Given the description of an element on the screen output the (x, y) to click on. 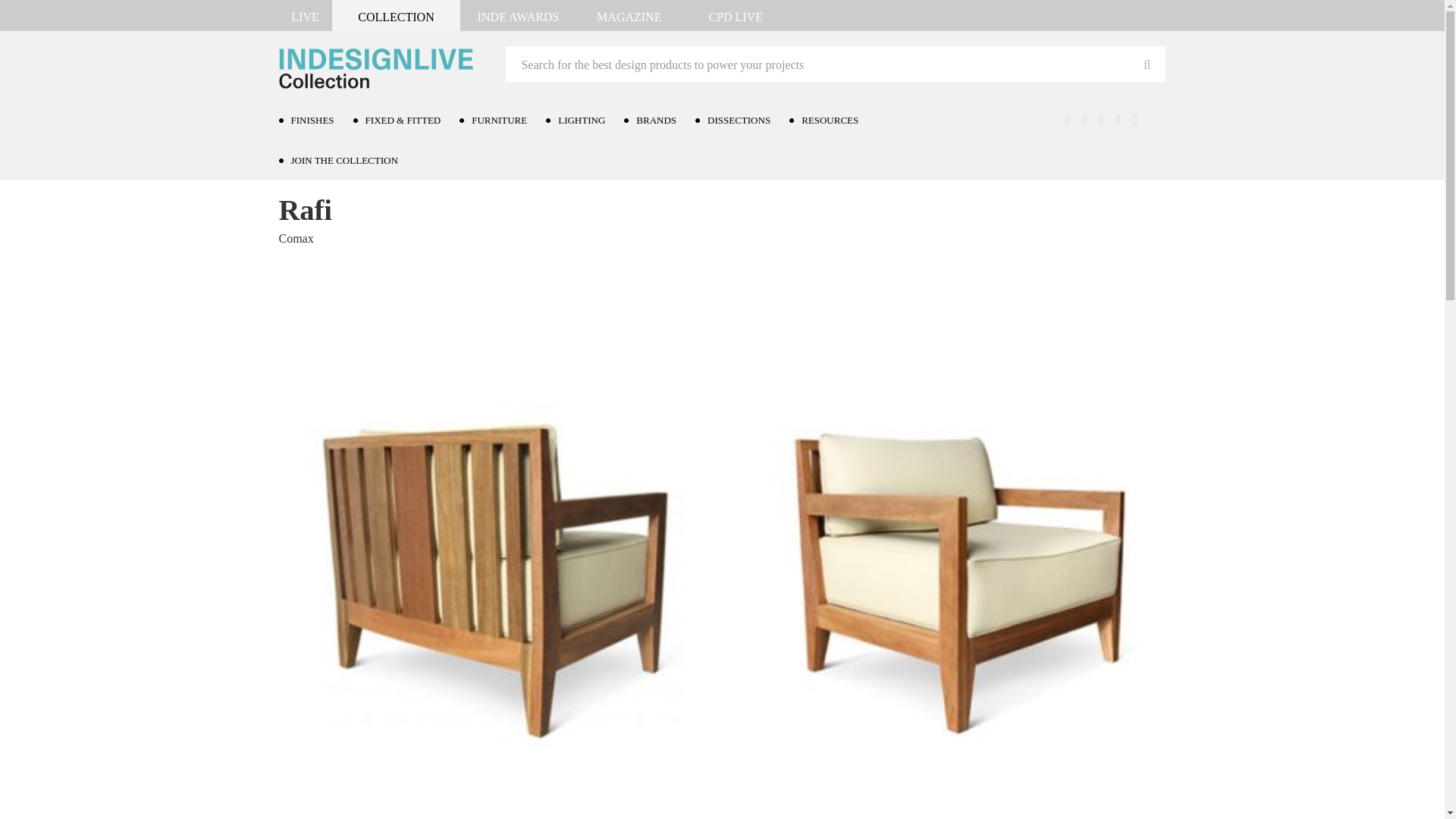
JOIN THE COLLECTION (347, 160)
BRANDS (659, 119)
DISSECTIONS (742, 119)
Furniture (339, 169)
Home (293, 169)
RESOURCES (833, 119)
FURNITURE (503, 119)
Lounge Seating (410, 169)
LIGHTING (585, 119)
FINISHES (316, 119)
